Given the description of an element on the screen output the (x, y) to click on. 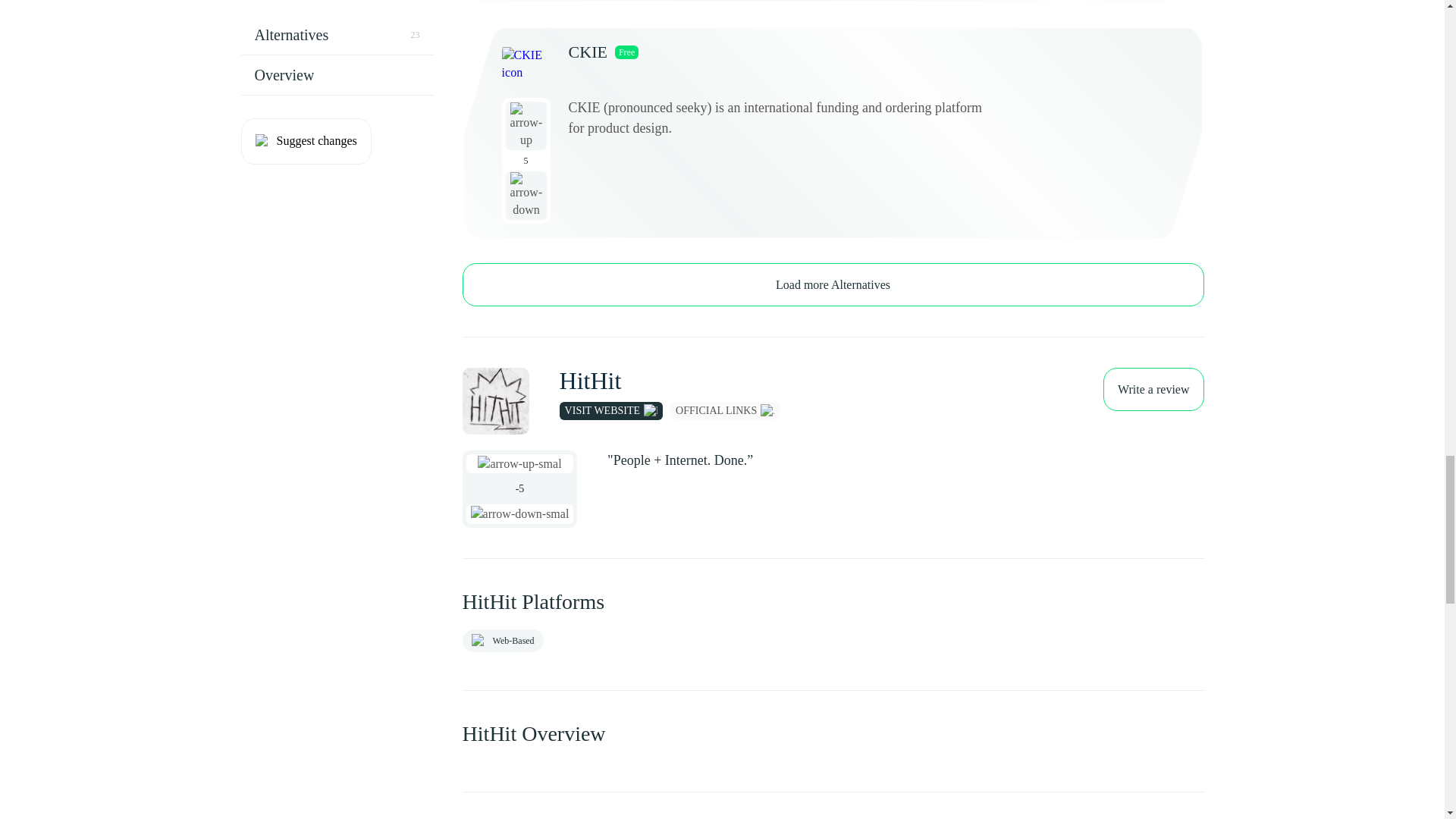
Visit HitHit Official site (610, 411)
